Given the description of an element on the screen output the (x, y) to click on. 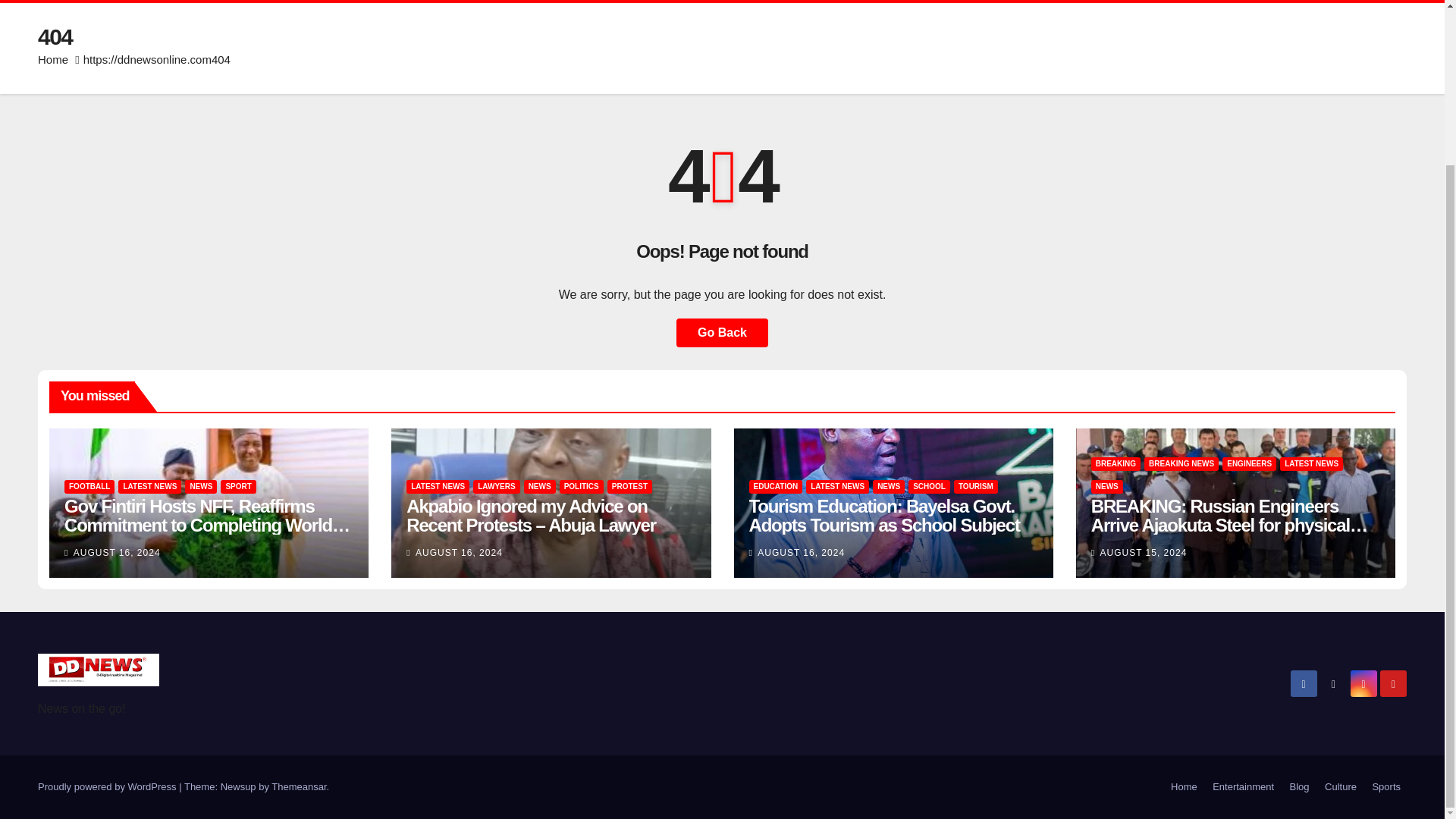
NEWS (200, 486)
SPORT (459, 1)
BLOG (754, 1)
SPORT (238, 486)
Culture (294, 1)
Sport (459, 1)
CULTURE (294, 1)
About Us (837, 1)
Military (382, 1)
